Given the description of an element on the screen output the (x, y) to click on. 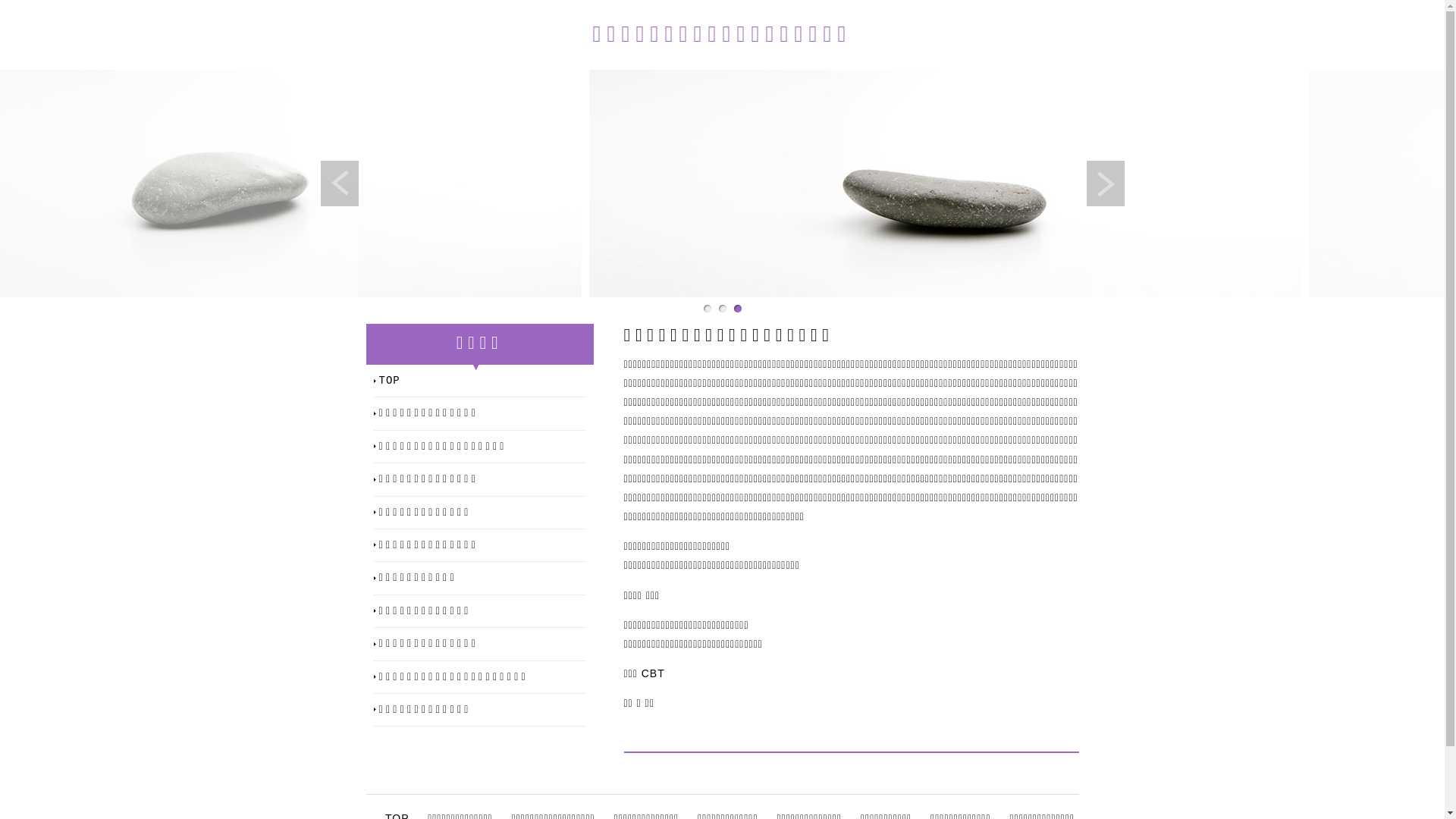
TOP Element type: text (482, 380)
